Given the description of an element on the screen output the (x, y) to click on. 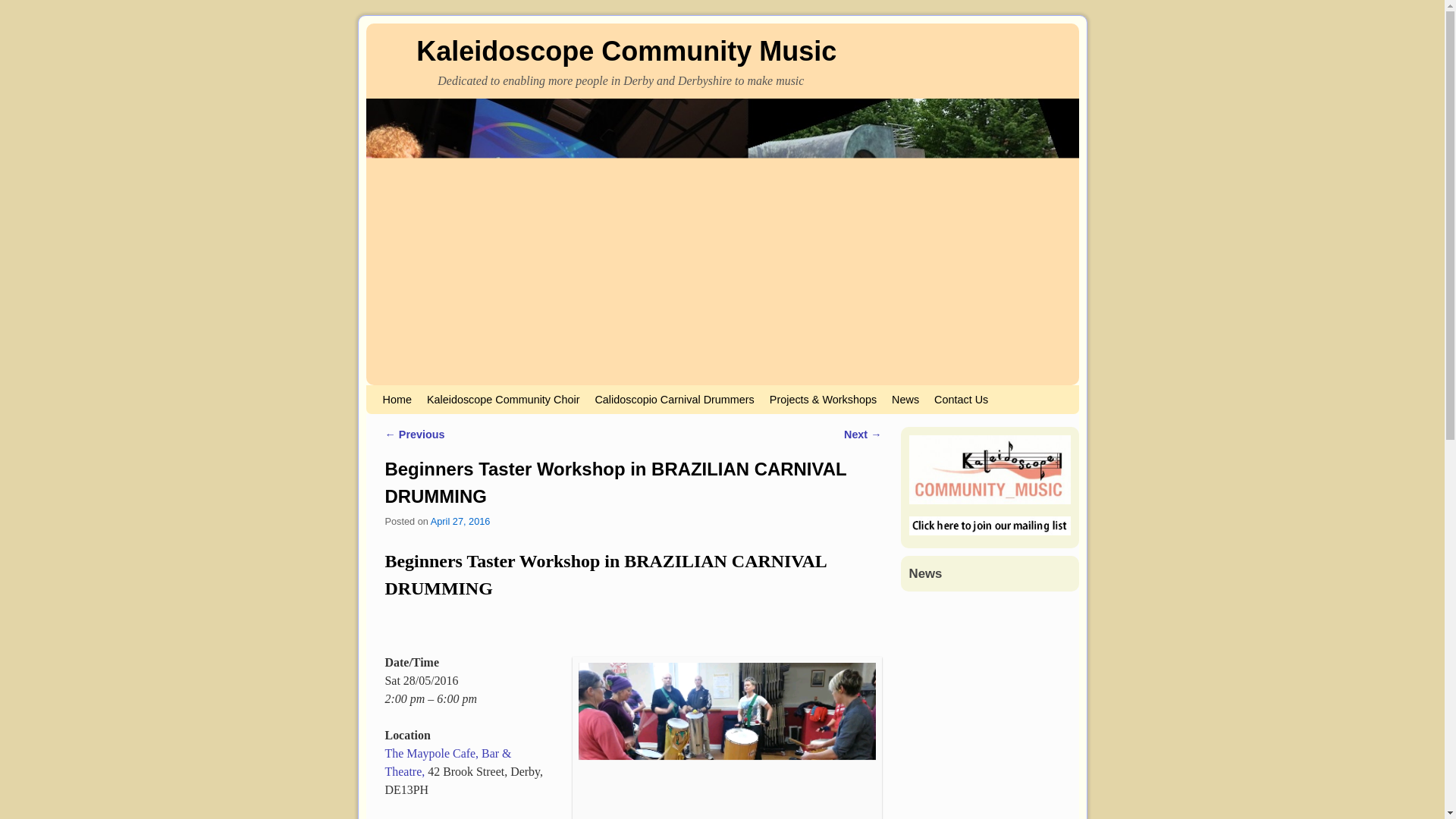
Calidoscopio Carnival Drummers (673, 399)
Kaleidoscope Community Music (625, 51)
Skip to primary content (408, 391)
Skip to secondary content (412, 391)
Kaleidoscope Community Choir (503, 399)
Contact Us (960, 399)
11:57 am (460, 521)
News (904, 399)
Home (396, 399)
Kaleidoscope Community Music (625, 51)
April 27, 2016 (460, 521)
